Given the description of an element on the screen output the (x, y) to click on. 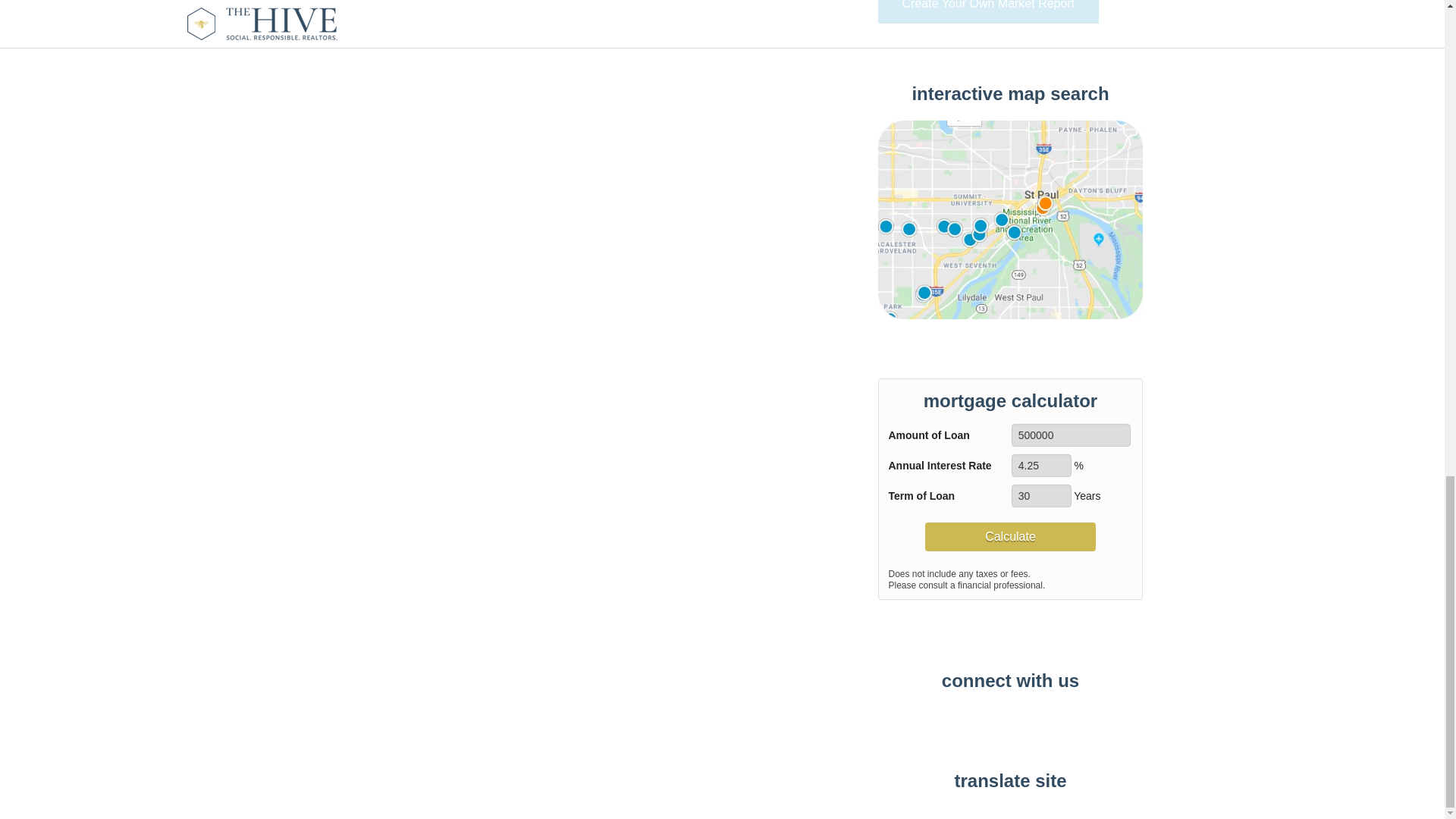
4.25 (1041, 465)
Twin Cities Real Estate Map Search (1009, 218)
500000 (1071, 435)
30 (1041, 495)
